Given the description of an element on the screen output the (x, y) to click on. 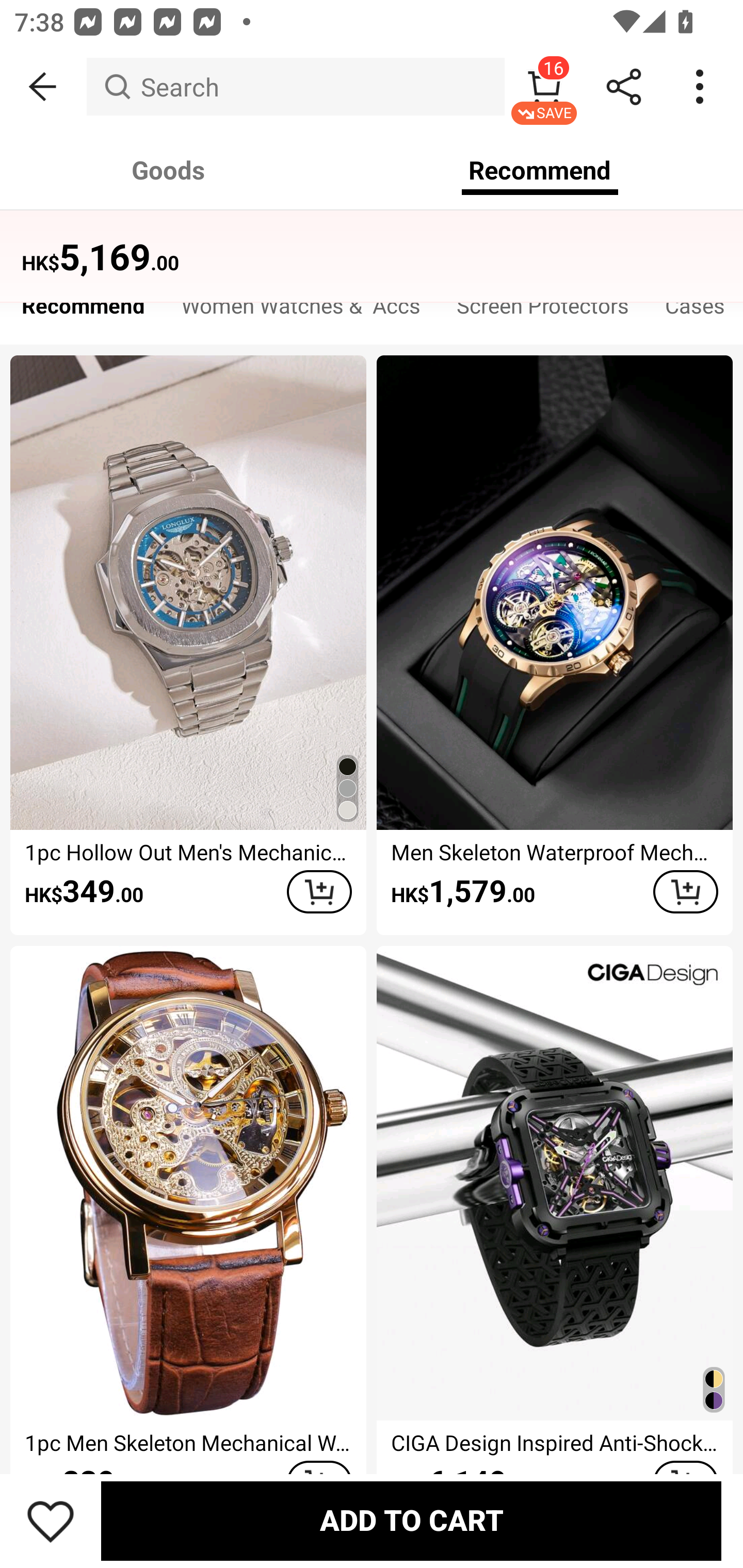
BACK (43, 86)
16 SAVE (543, 87)
Search (295, 87)
Follow (189, 158)
All Items (549, 158)
You May Also Like (371, 244)
Recommend (82, 310)
Women Watches &  Accs (300, 310)
Screen Protectors (542, 310)
Cases (695, 310)
ADD TO CART (319, 892)
ADD TO CART (685, 892)
ADD TO CART (411, 1520)
Save (50, 1520)
